Given the description of an element on the screen output the (x, y) to click on. 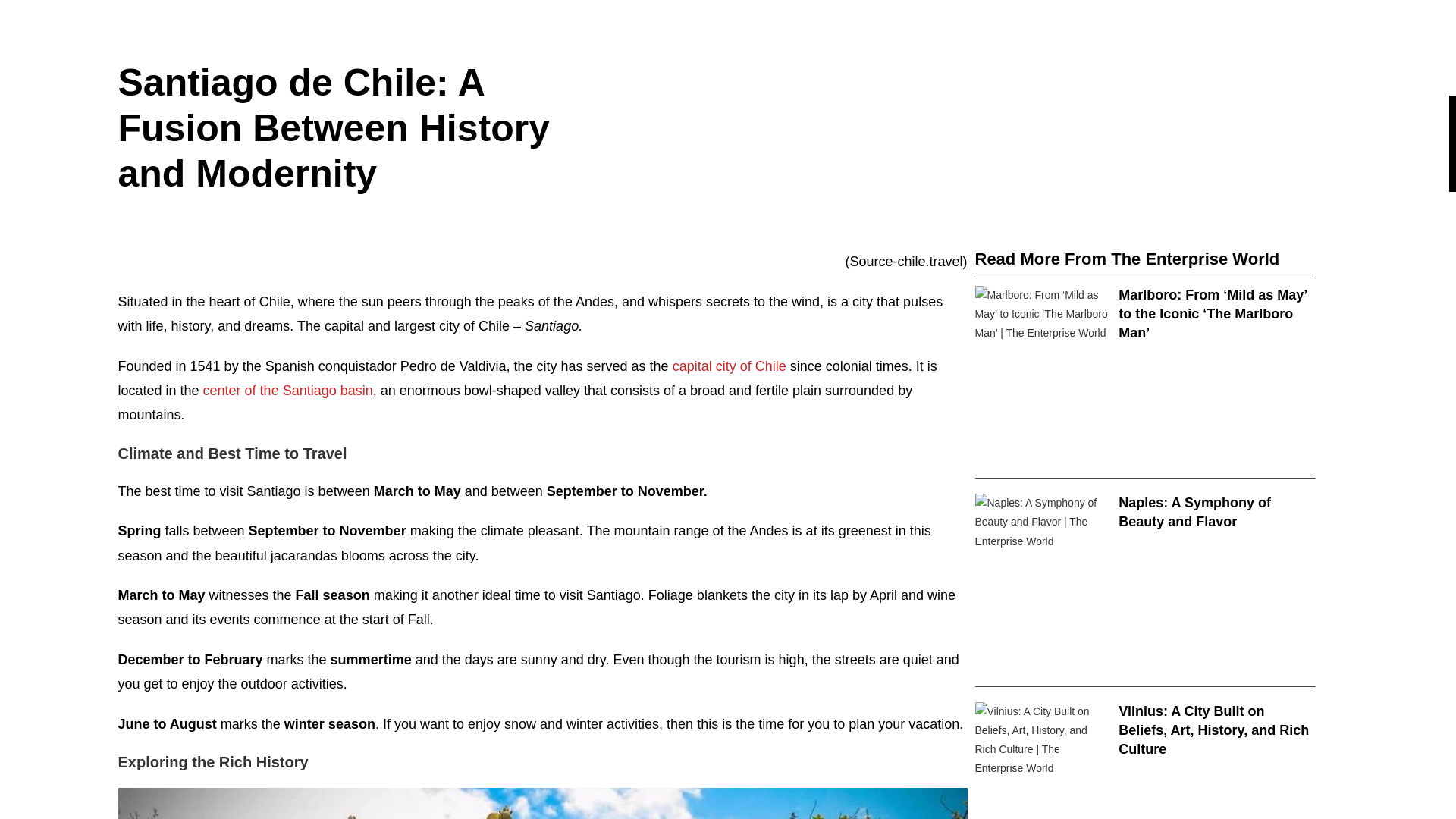
center of the Santiago basin (287, 390)
Naples: A Symphony of Beauty and Flavor (1194, 512)
capital city of Chile (729, 365)
